Given the description of an element on the screen output the (x, y) to click on. 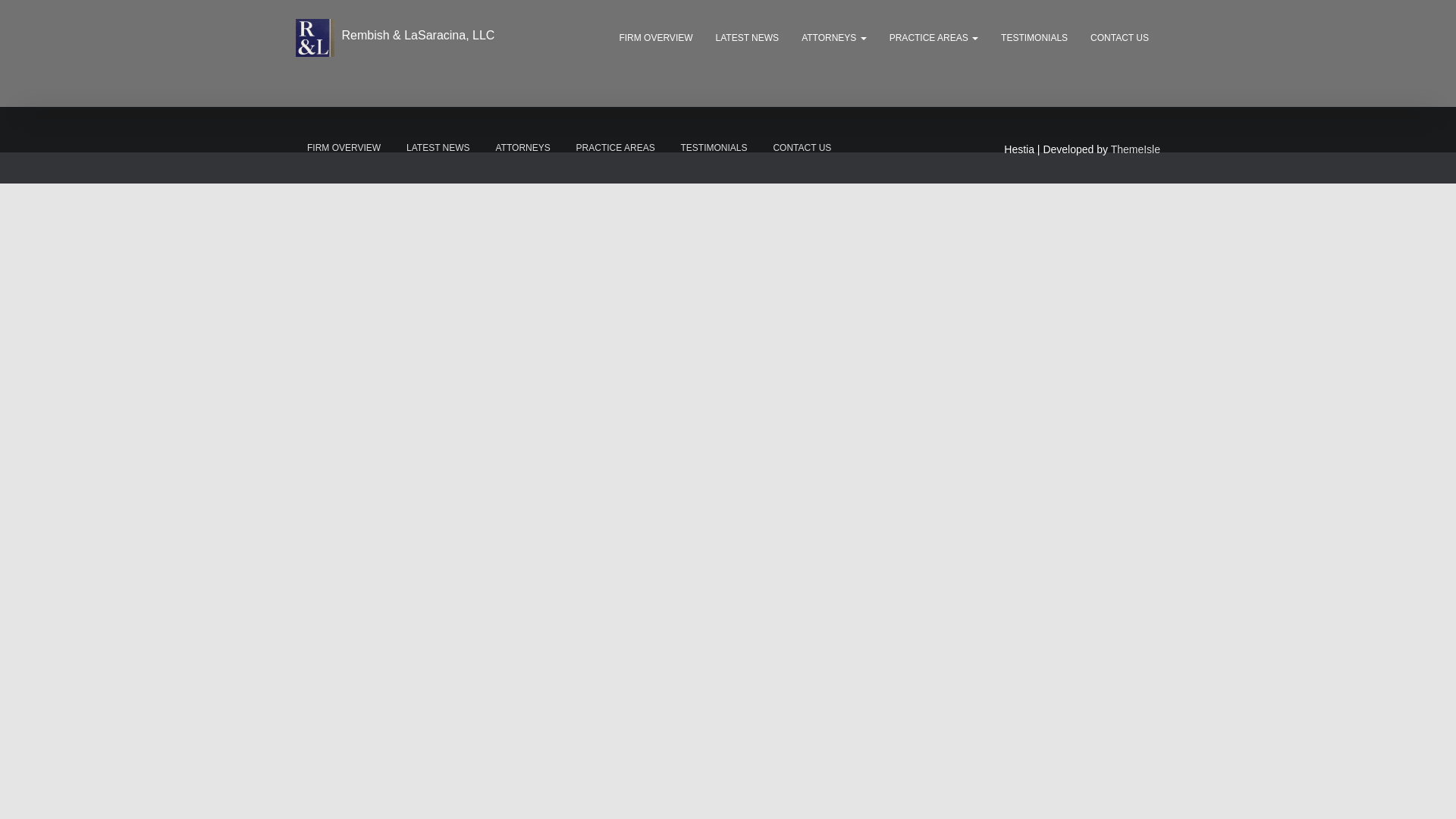
ThemeIsle (1135, 149)
Firm Overview (655, 37)
FIRM OVERVIEW (343, 148)
Practice Areas (933, 37)
LATEST NEWS (747, 37)
TESTIMONIALS (713, 148)
Latest News (747, 37)
ATTORNEYS (833, 37)
Attorneys (833, 37)
PRACTICE AREAS (615, 148)
CONTACT US (802, 148)
ATTORNEYS (521, 148)
CONTACT US (1119, 37)
PRACTICE AREAS (933, 37)
TESTIMONIALS (1034, 37)
